Given the description of an element on the screen output the (x, y) to click on. 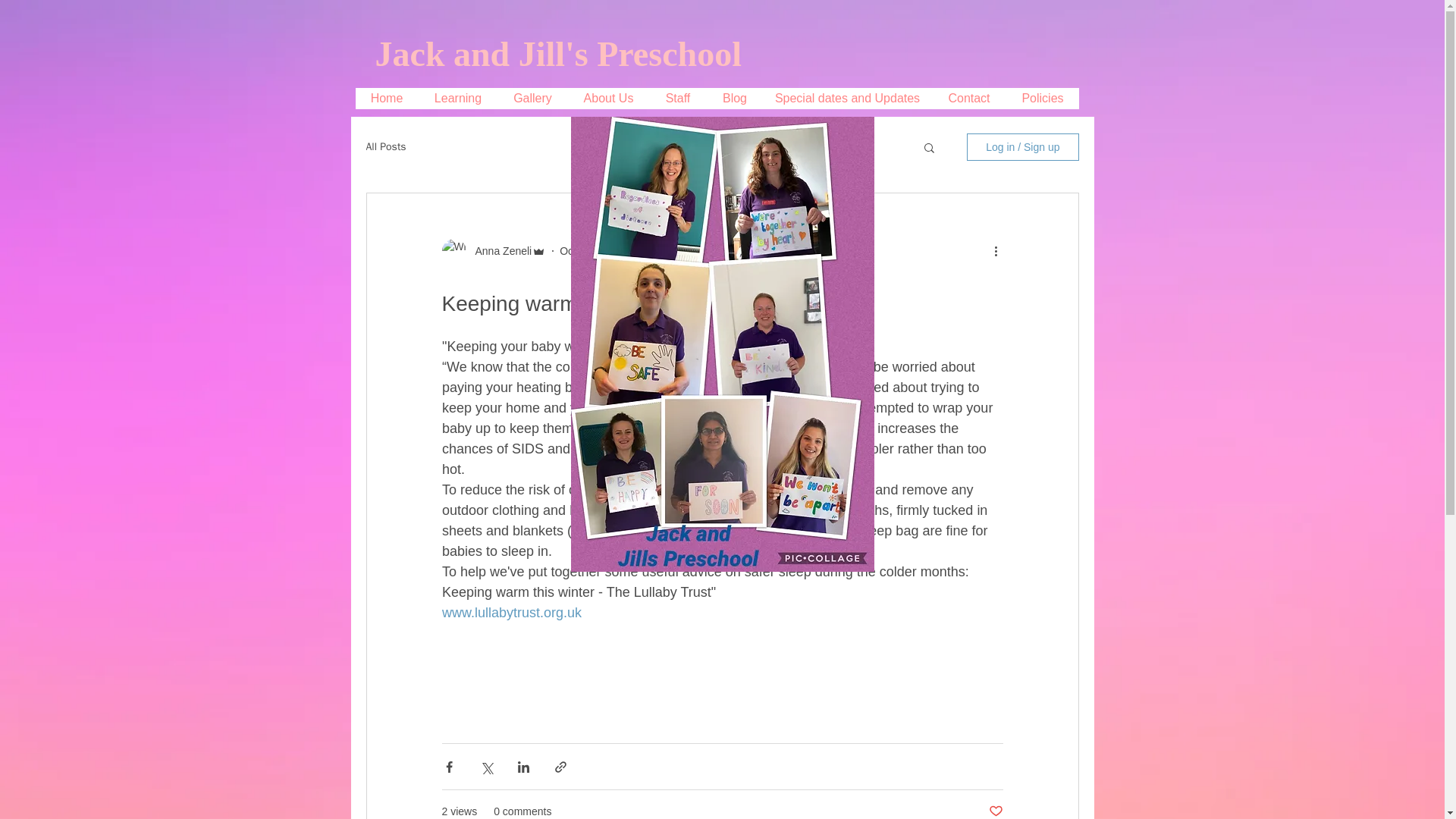
Policies (1042, 97)
Learning (458, 97)
Staff (677, 97)
www.lullabytrust.org.uk (510, 612)
Gallery (532, 97)
Oct 3, 2022 (586, 250)
Anna Zeneli (498, 251)
About Us (607, 97)
Post not marked as liked (995, 811)
Blog (734, 97)
